Given the description of an element on the screen output the (x, y) to click on. 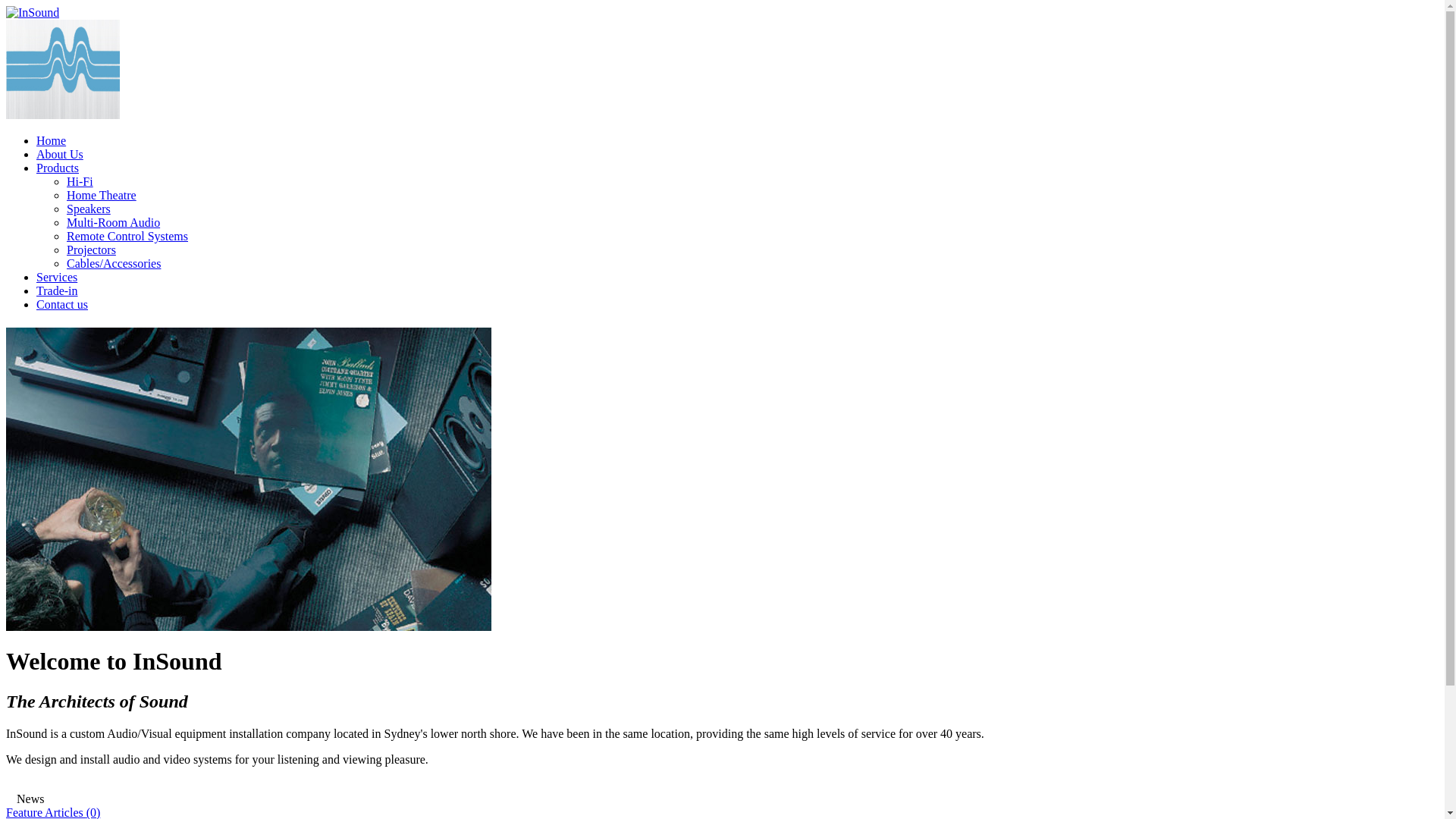
InSound Element type: hover (62, 69)
Remote Control Systems Element type: text (127, 235)
Hi-Fi Element type: text (79, 181)
Services Element type: text (56, 276)
InSound Element type: hover (32, 12)
Trade-in Element type: text (57, 290)
Projectors Element type: text (91, 249)
Home Element type: text (50, 140)
About Us Element type: text (59, 153)
Products Element type: text (57, 167)
Cables/Accessories Element type: text (113, 263)
Speakers Element type: text (88, 208)
Multi-Room Audio Element type: text (113, 222)
Contact us Element type: text (61, 304)
Home Theatre Element type: text (101, 194)
